Given the description of an element on the screen output the (x, y) to click on. 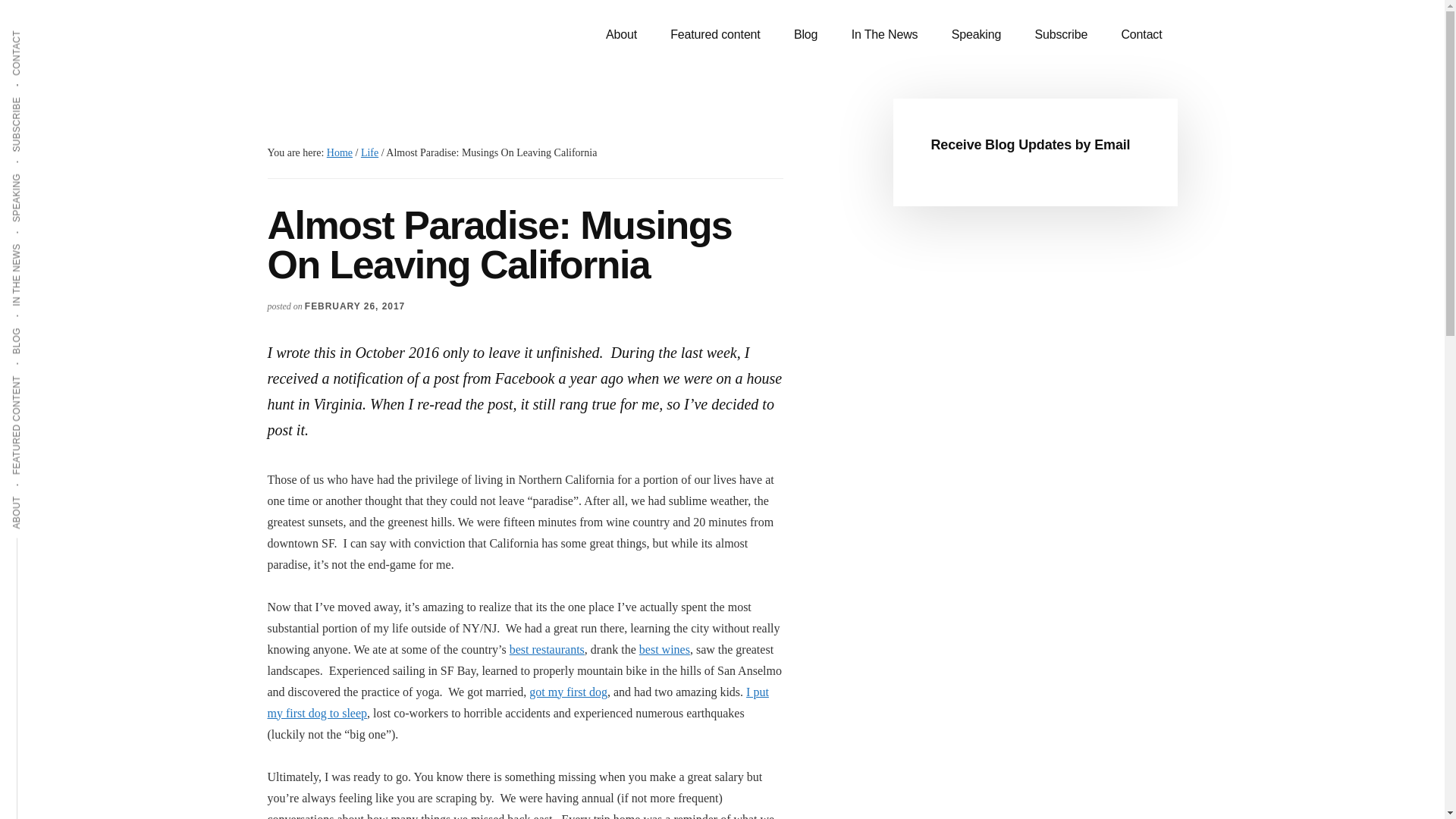
Speaking (976, 34)
BLOG (30, 326)
AdamMonago.com (380, 45)
IN THE NEWS (48, 242)
Home (339, 152)
SUBSCRIBE (45, 95)
FEATURED CONTENT (67, 374)
CONTACT (40, 28)
best restaurants (547, 649)
